Given the description of an element on the screen output the (x, y) to click on. 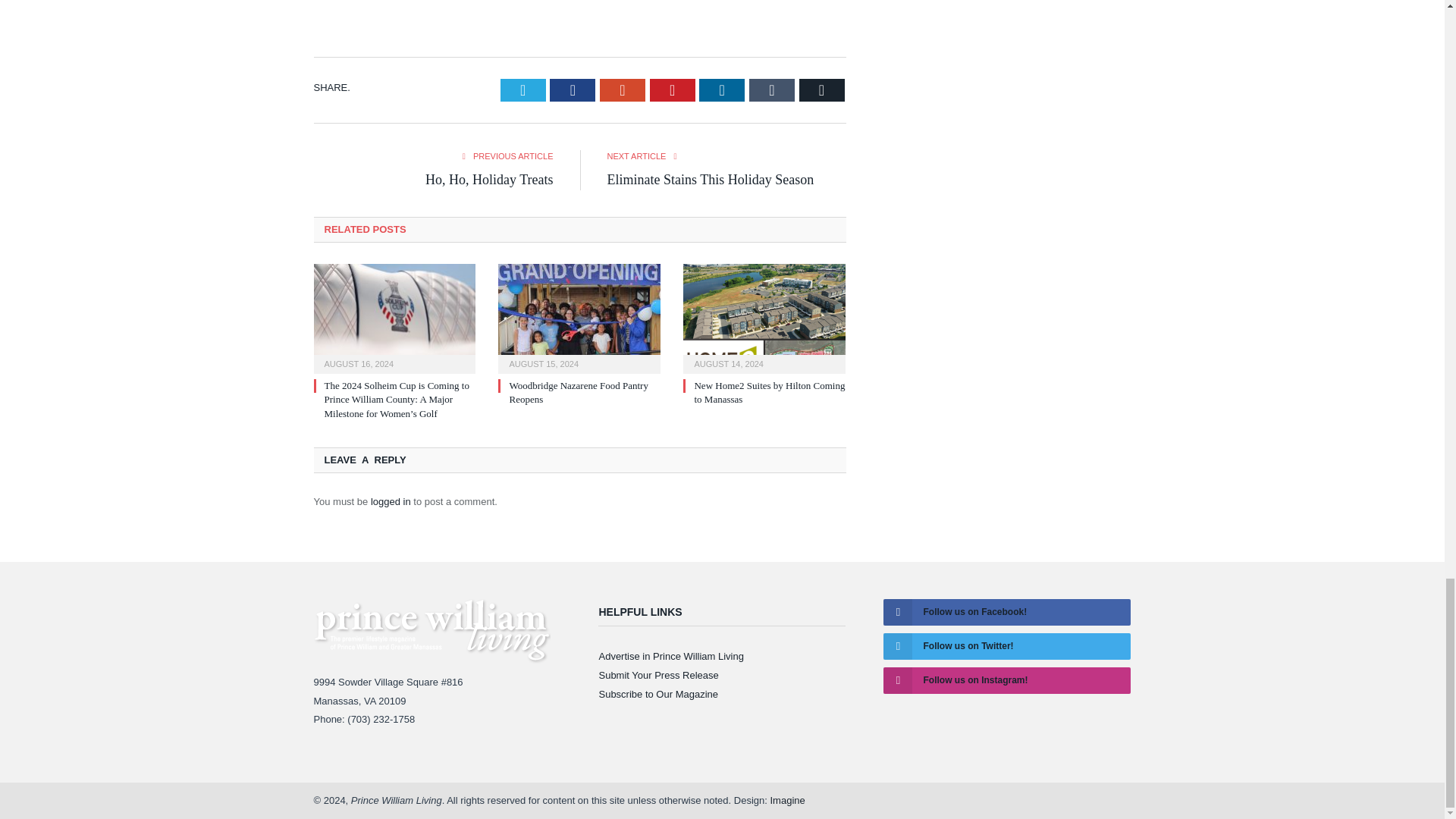
Woodbridge Nazarene Food Pantry Reopens (579, 316)
New Home2 Suites by Hilton Coming to Manassas (763, 316)
Woodbridge Nazarene Food Pantry Reopens (577, 392)
